Given the description of an element on the screen output the (x, y) to click on. 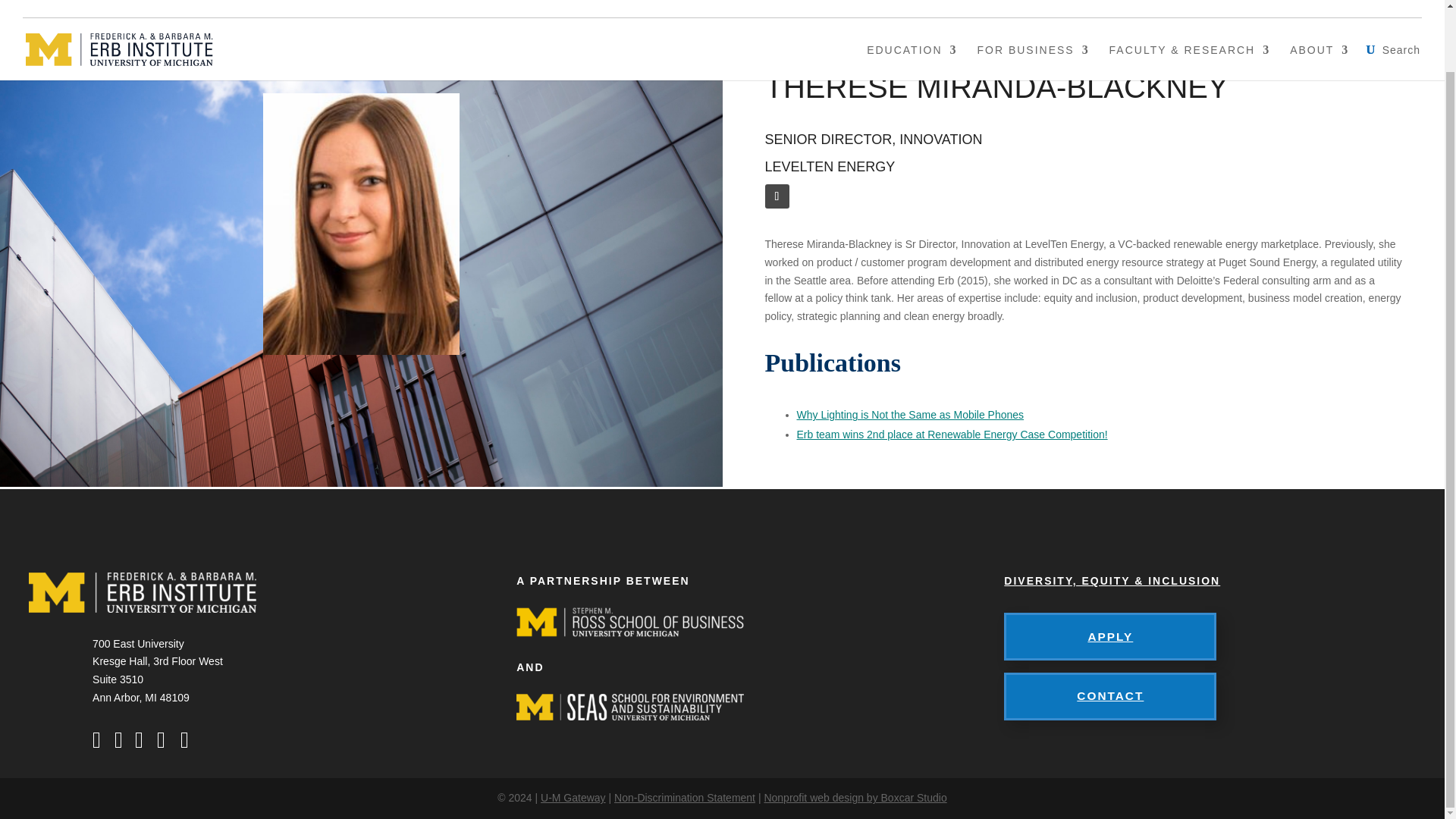
FOR BUSINESS (1032, 6)
ABOUT (1319, 6)
EDUCATION (911, 6)
Follow on LinkedIn (776, 196)
